Given the description of an element on the screen output the (x, y) to click on. 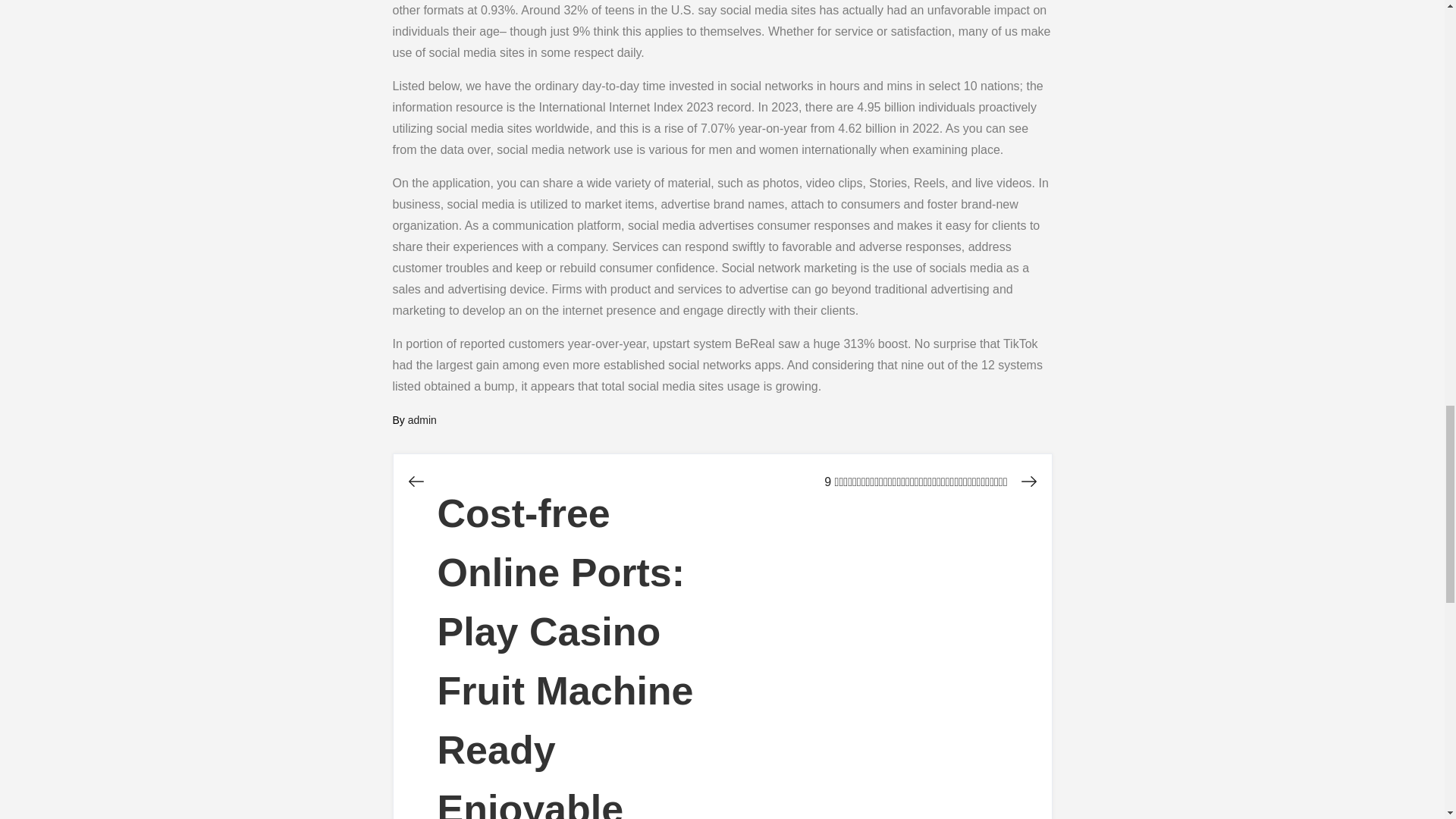
admin (421, 419)
